Given the description of an element on the screen output the (x, y) to click on. 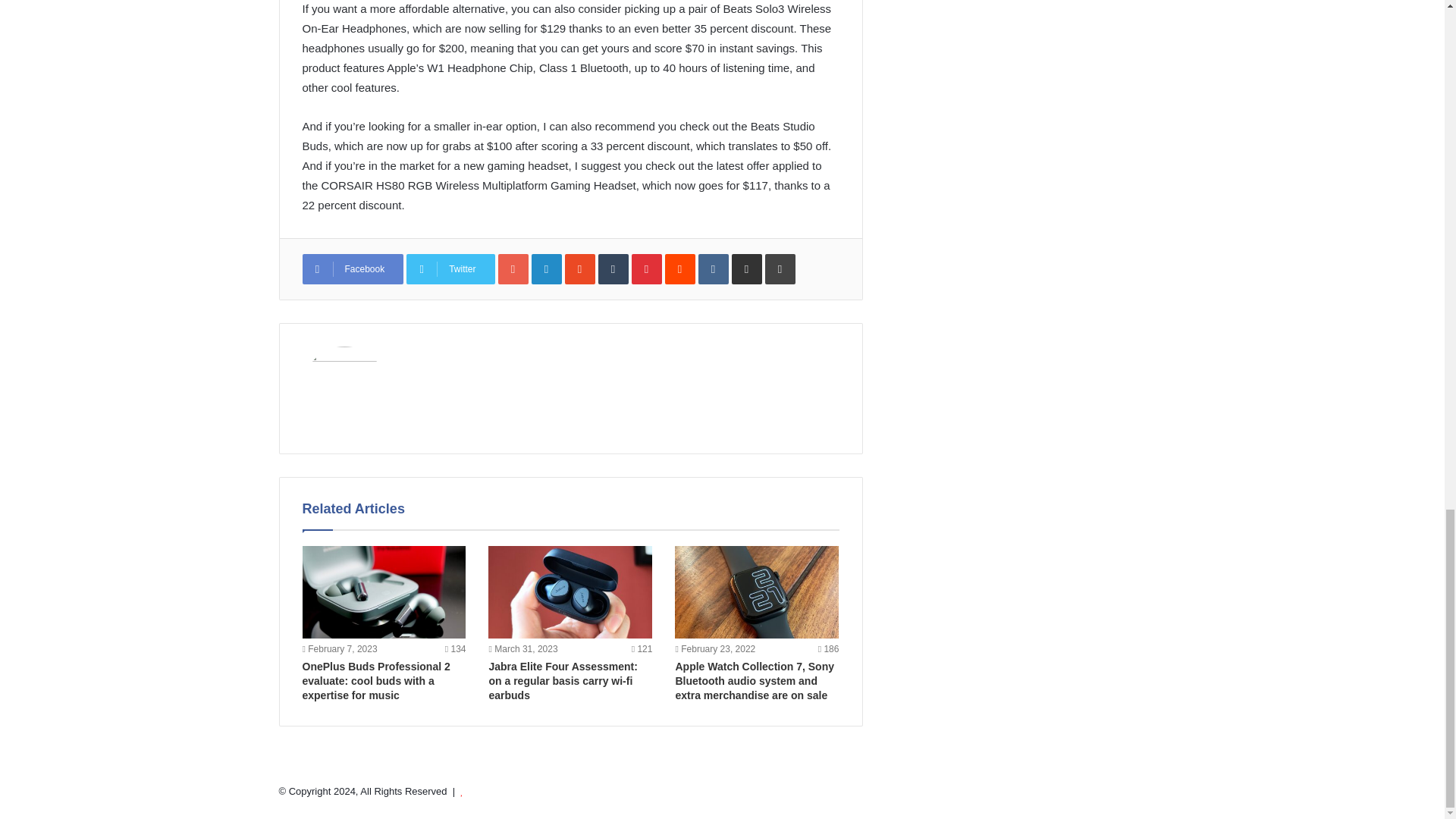
StumbleUpon (579, 268)
Pinterest (646, 268)
Print (779, 268)
Twitter (450, 268)
Tumblr (613, 268)
Reddit (680, 268)
Share via Email (746, 268)
VKontakte (713, 268)
Facebook (352, 268)
LinkedIn (546, 268)
